Given the description of an element on the screen output the (x, y) to click on. 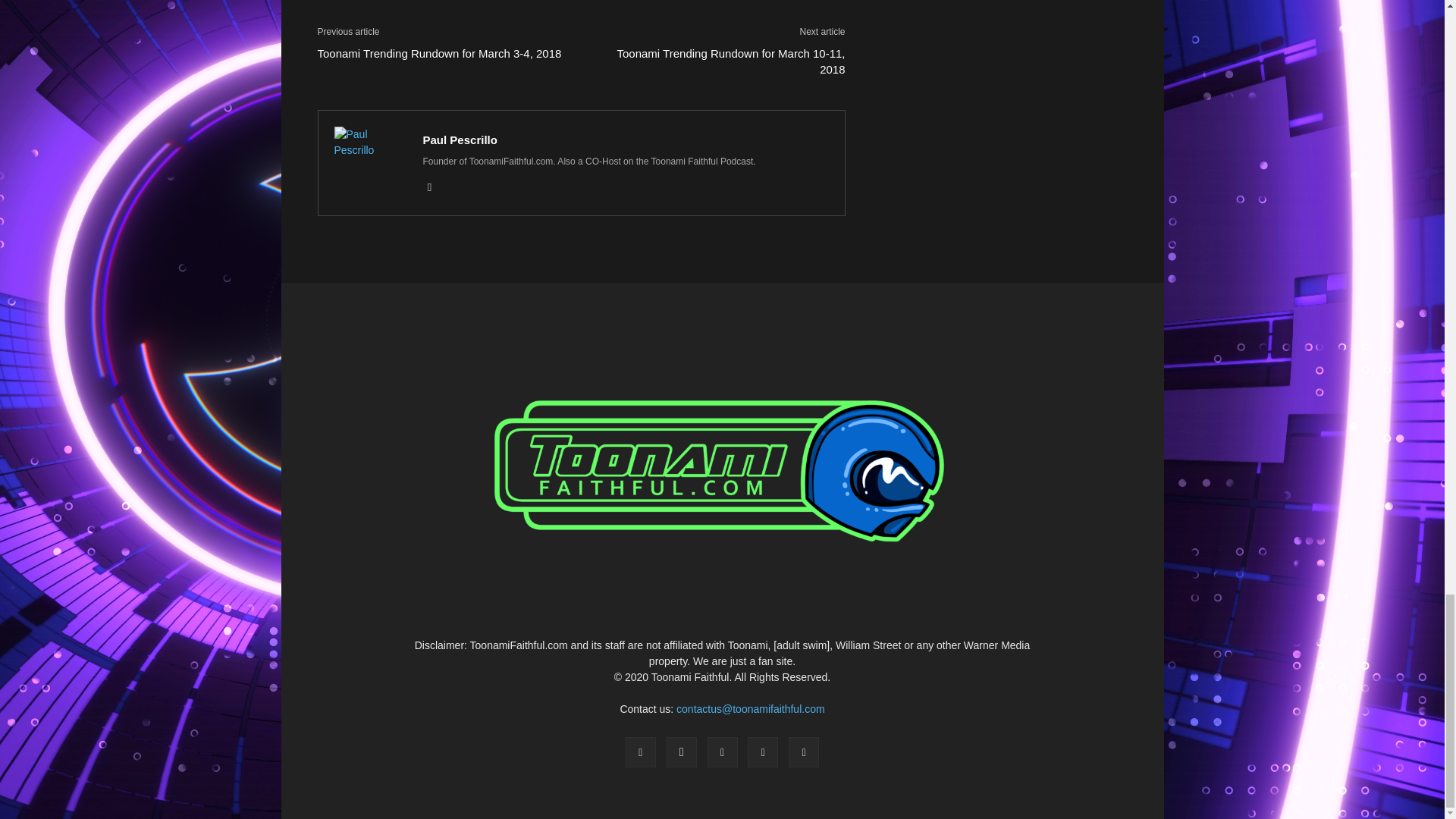
bottomFacebookLike (430, 11)
Instagram (435, 187)
